Given the description of an element on the screen output the (x, y) to click on. 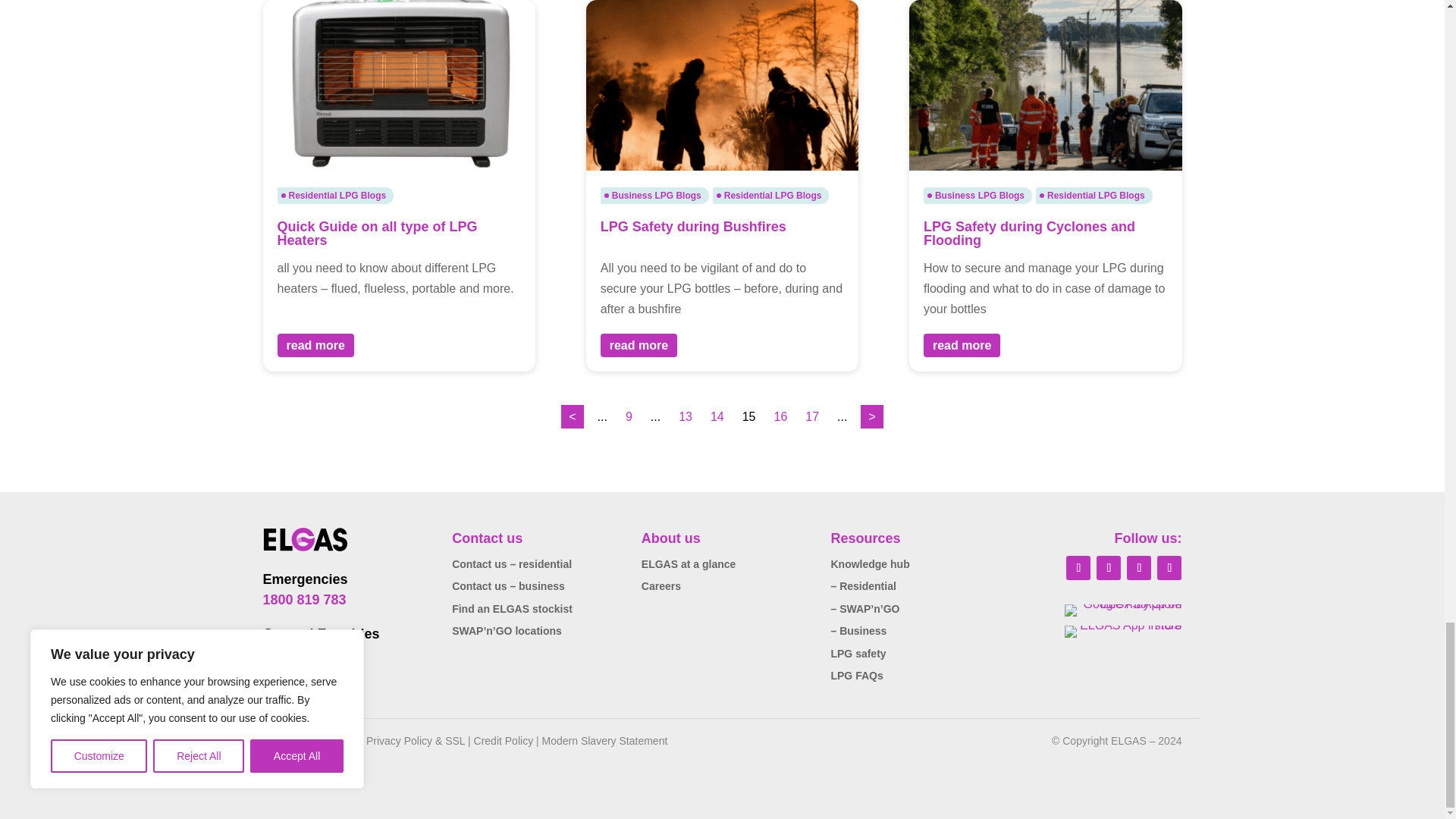
Follow on Facebook (1077, 567)
Page 13 (685, 416)
Page 16 (781, 416)
ELGAS App on Google Play Store (1122, 610)
elgas-logo (304, 539)
Page 17 (812, 416)
Follow on Instagram (1138, 567)
appstore (1122, 631)
Follow on LinkedIn (1108, 567)
Follow on Youtube (1168, 567)
Page 14 (717, 416)
